Given the description of an element on the screen output the (x, y) to click on. 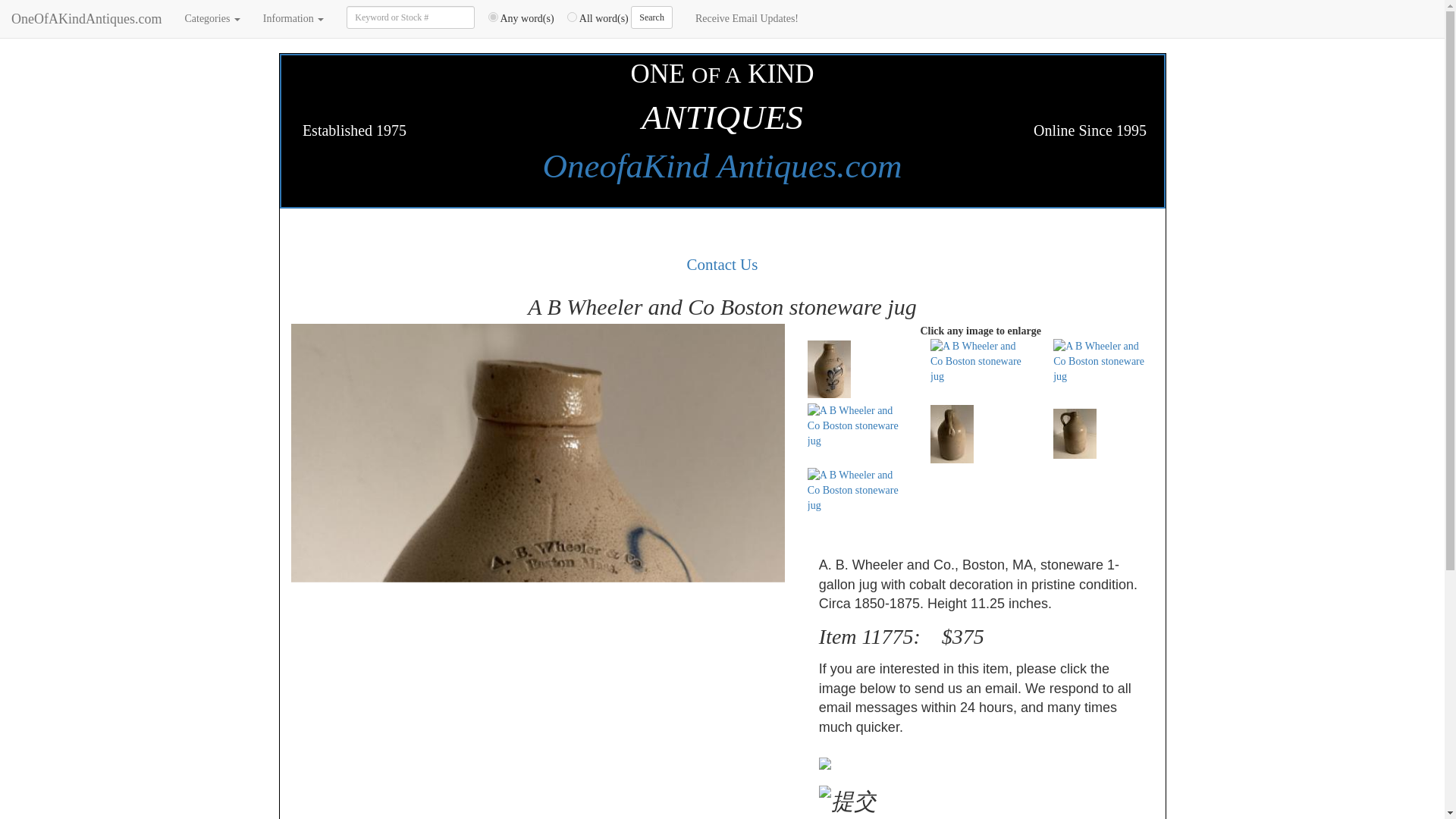
Categories (211, 18)
any (492, 17)
OneOfAKindAntiques.com (86, 18)
all (571, 17)
